Given the description of an element on the screen output the (x, y) to click on. 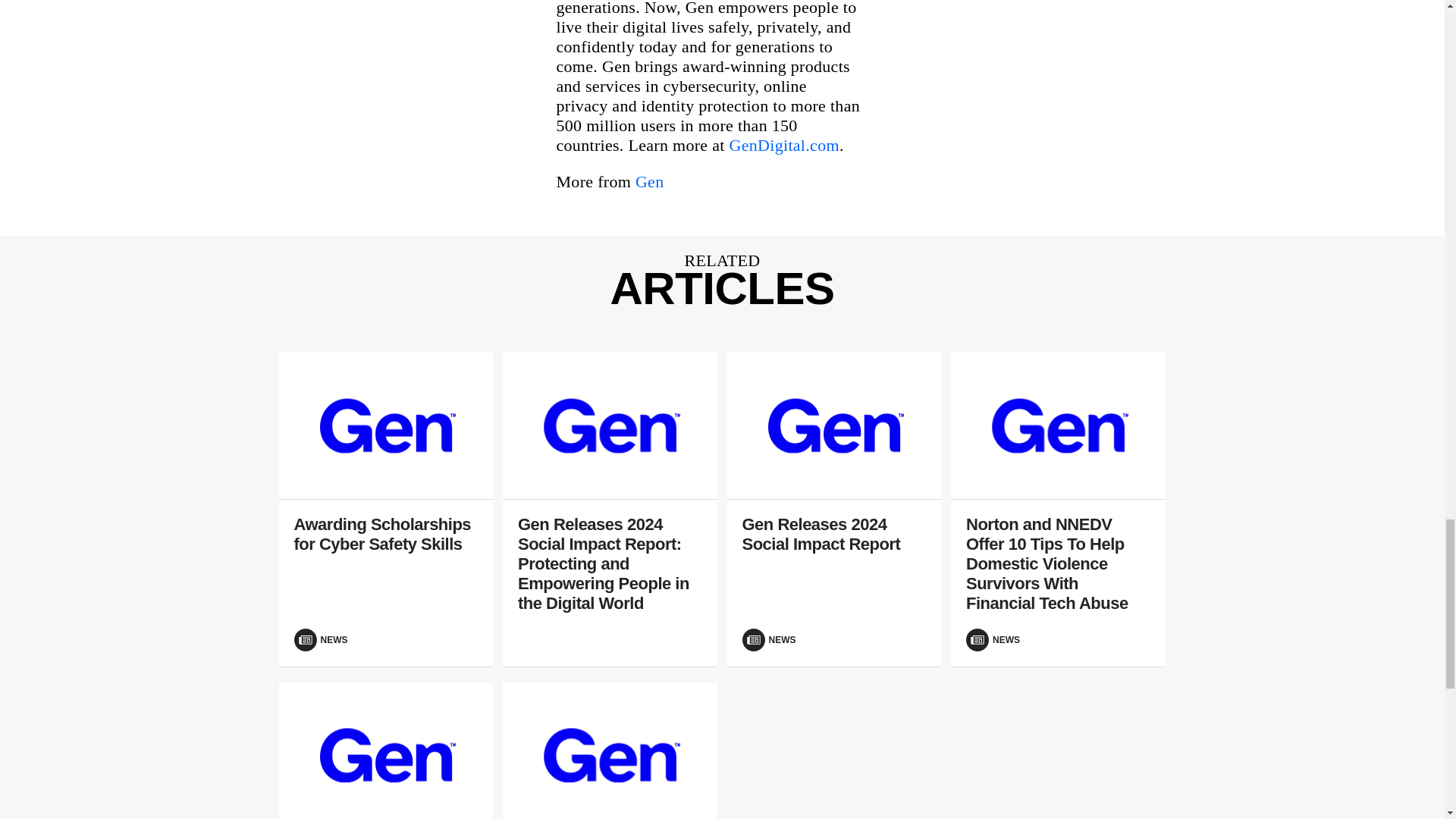
Gen (648, 180)
GenDigital.com (784, 144)
